Given the description of an element on the screen output the (x, y) to click on. 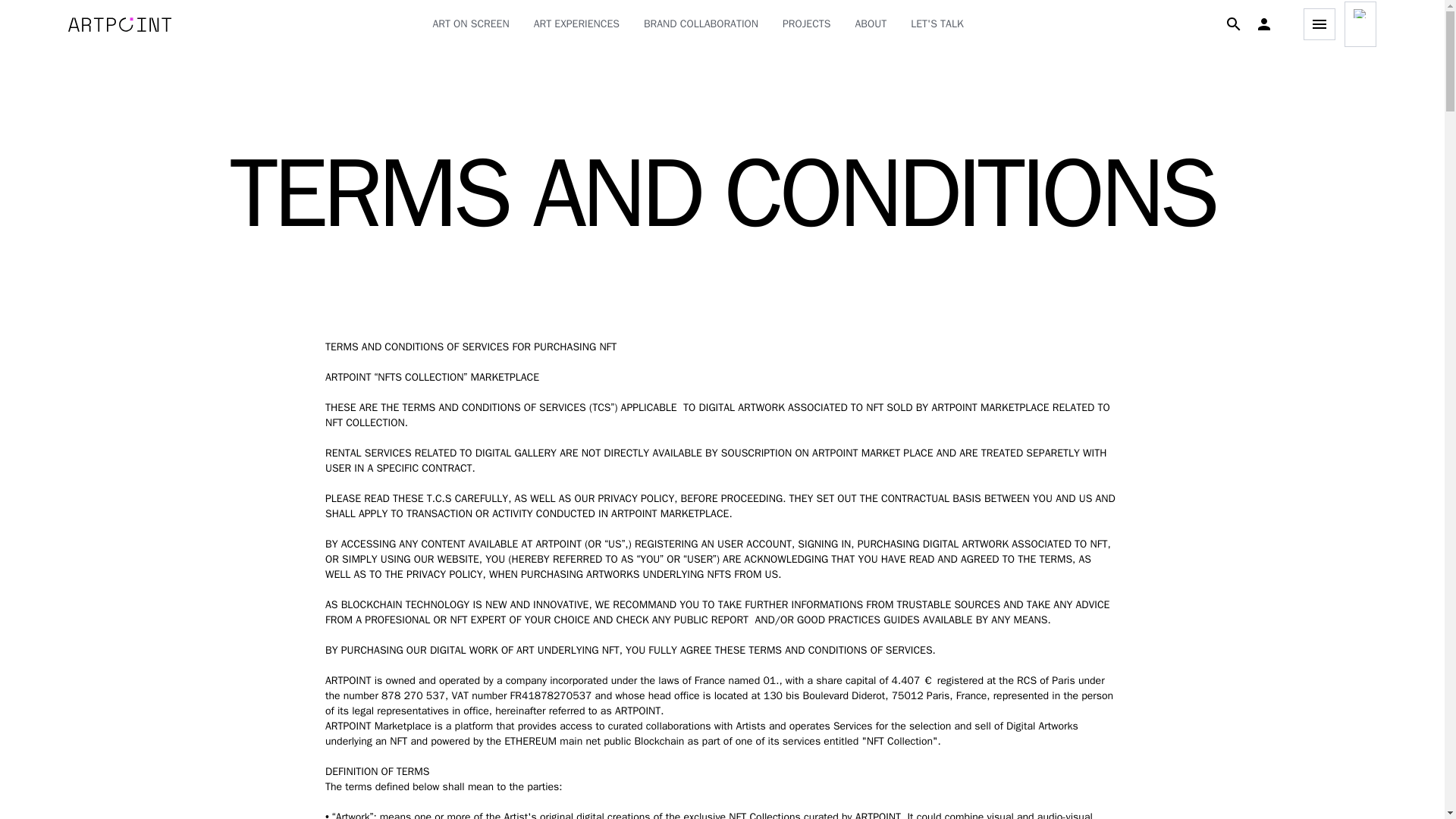
PROJECTS (806, 23)
ART EXPERIENCES (576, 23)
LET'S TALK (936, 23)
BRAND COLLABORATION (700, 23)
ART ON SCREEN (470, 23)
ABOUT (870, 23)
